Given the description of an element on the screen output the (x, y) to click on. 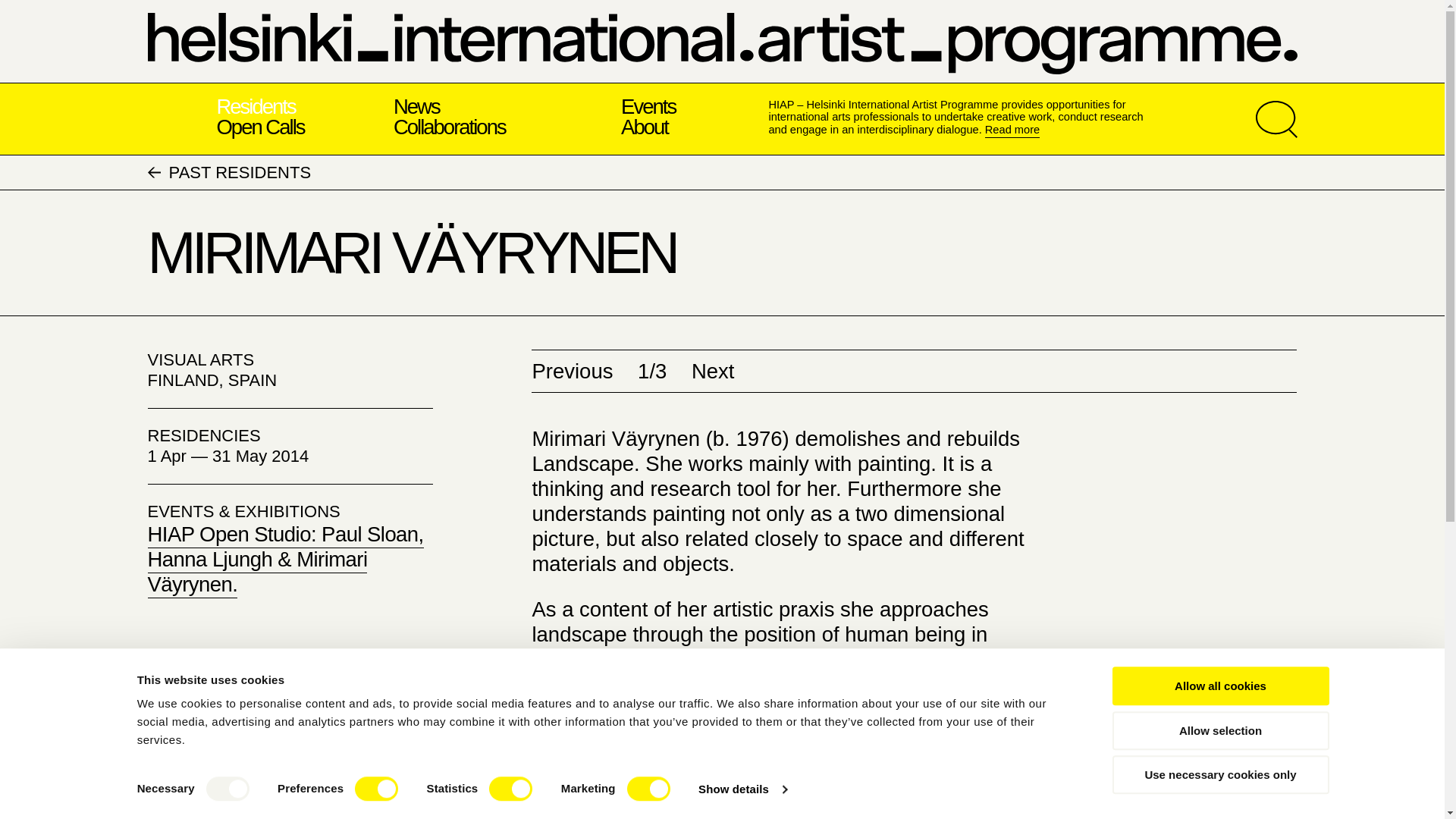
News (416, 106)
Open Calls (259, 126)
Use necessary cookies only (1219, 774)
Allow all cookies (1219, 685)
Allow selection (1219, 730)
Events (648, 106)
Show details (742, 789)
Residents (255, 106)
